Given the description of an element on the screen output the (x, y) to click on. 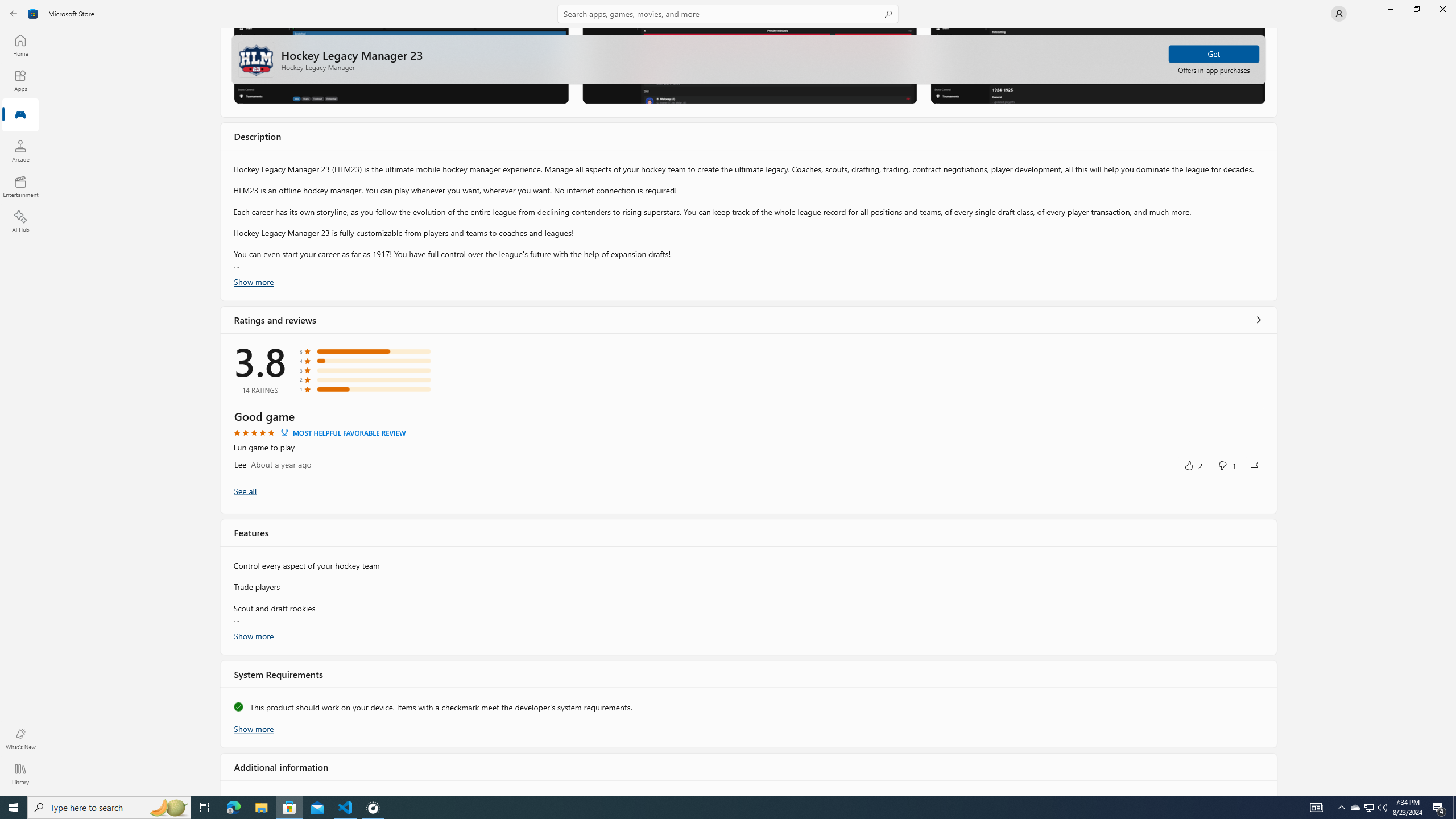
Back (13, 13)
Gaming (20, 115)
AI Hub (20, 221)
Library (20, 773)
Arcade (20, 150)
AutomationID: NavigationControl (728, 398)
Close Microsoft Store (1442, 9)
Search (727, 13)
Get (1213, 53)
What's New (20, 738)
Restore Microsoft Store (1416, 9)
User profile (1338, 13)
Review by Lee. Rated 5 out of five stars. Good game. (748, 440)
Class: Image (32, 13)
Screenshot 3 (1097, 65)
